Given the description of an element on the screen output the (x, y) to click on. 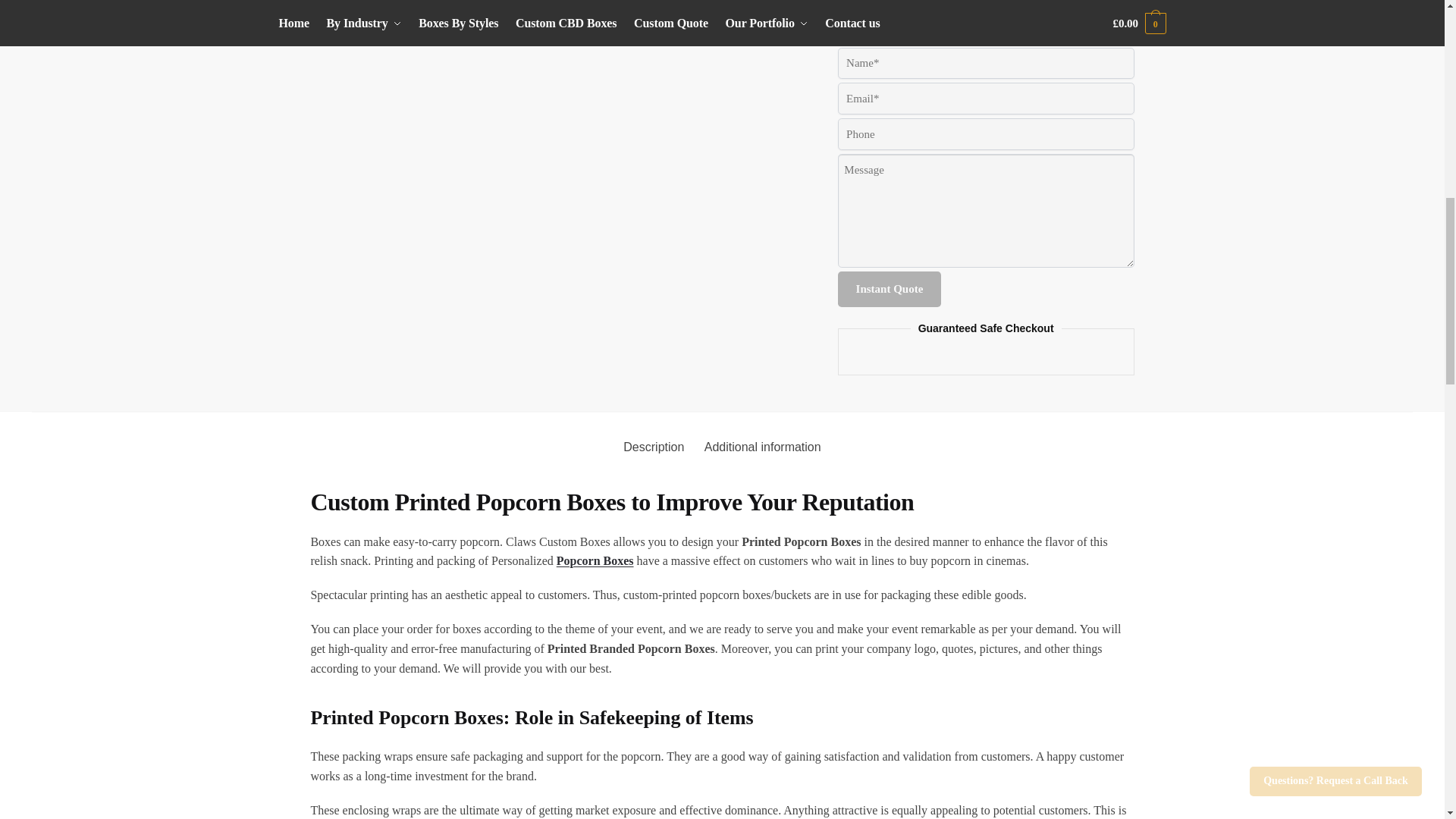
custom printed popcorn boxes (494, 16)
printed popcorn box (369, 16)
printed popcorn boxes wholesale (619, 16)
Instant Quote (890, 289)
custom printed popcorn boxes wholesale (746, 16)
